Given the description of an element on the screen output the (x, y) to click on. 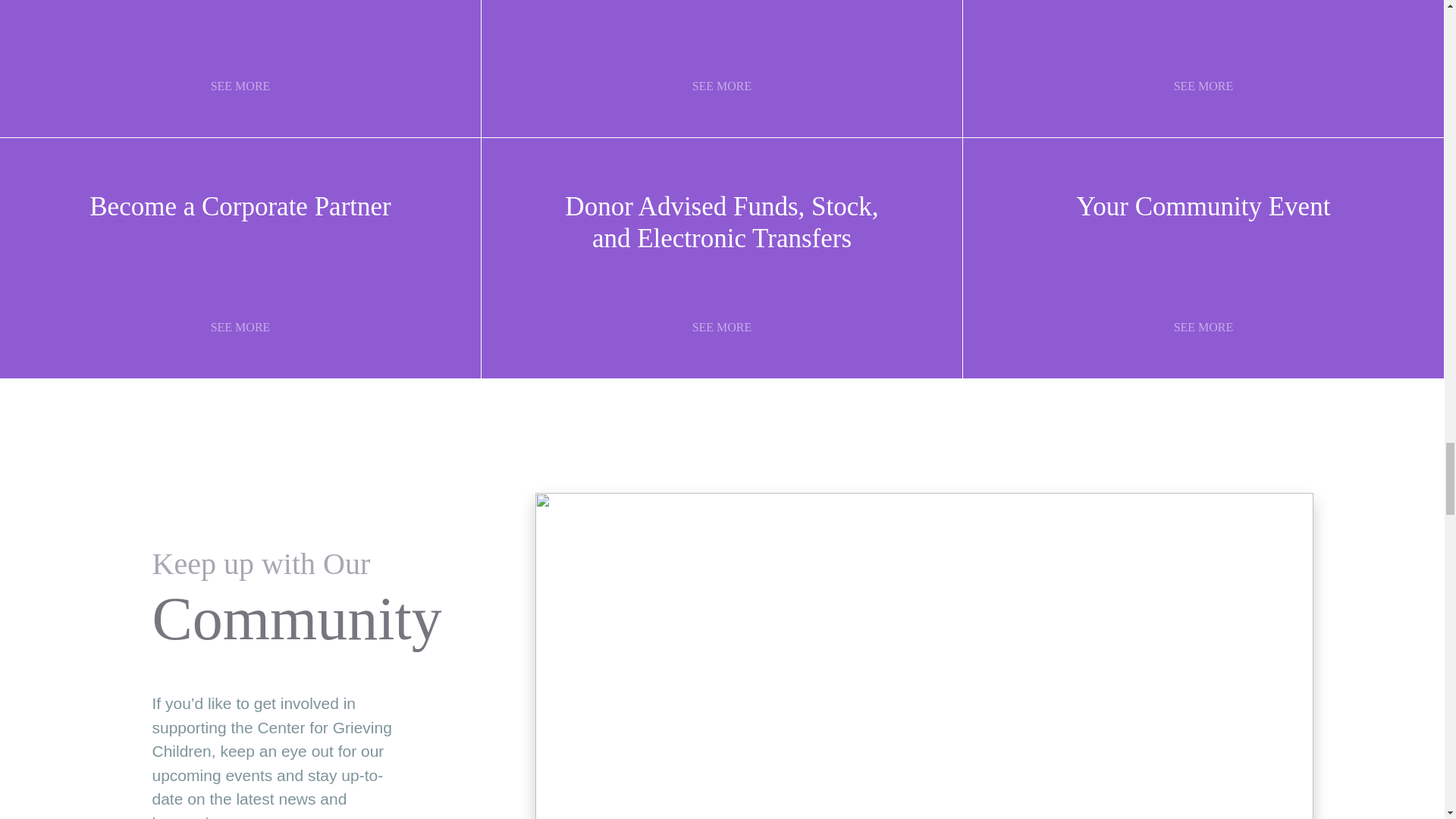
SEE MORE (240, 86)
SEE MORE (721, 86)
SEE MORE (1203, 86)
SEE MORE (240, 327)
